Given the description of an element on the screen output the (x, y) to click on. 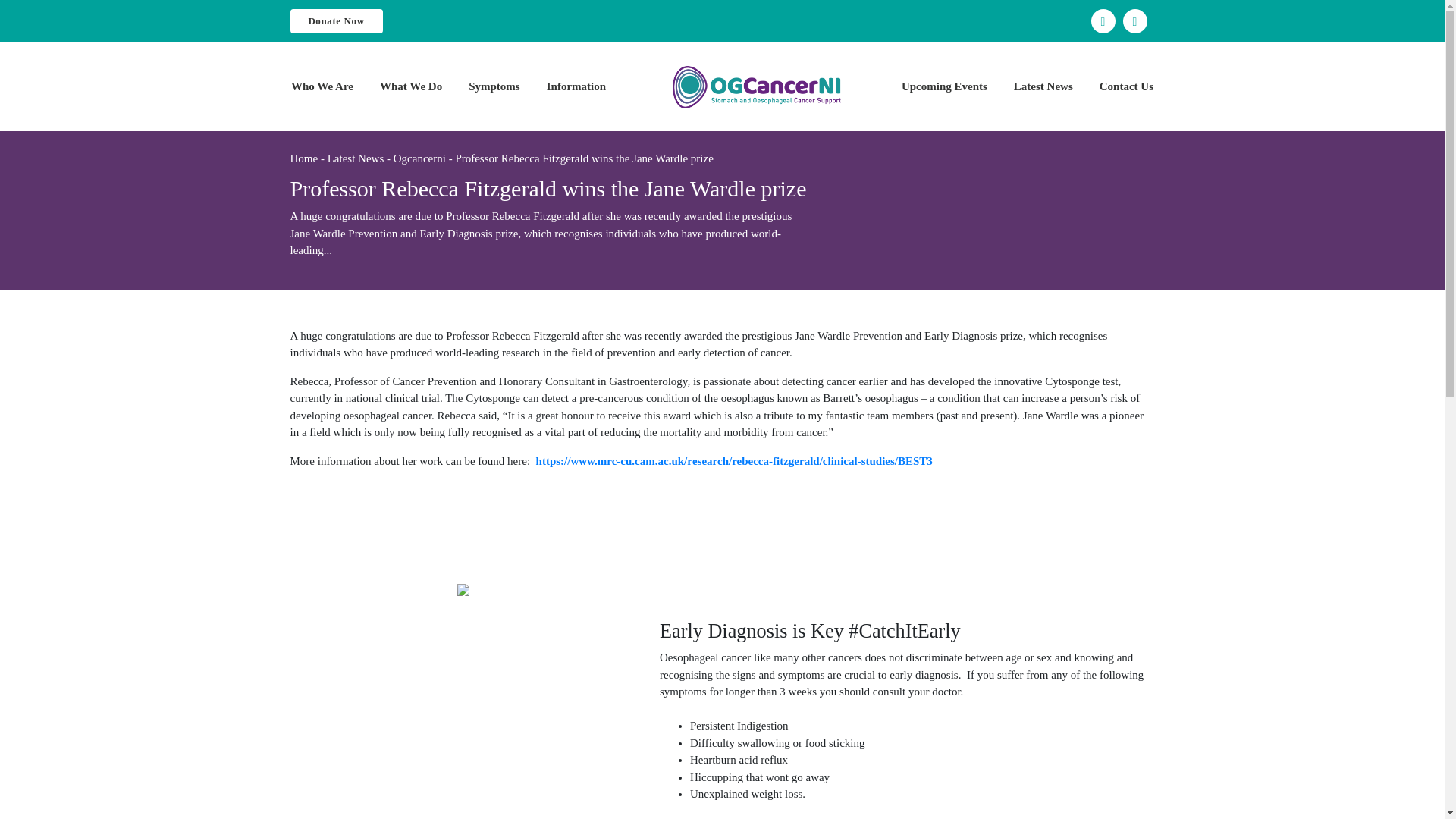
Contact Us (1125, 87)
Latest News (1042, 87)
Information (575, 87)
Symptoms (494, 87)
Upcoming Events (943, 87)
Home (303, 158)
Latest News (1042, 87)
Information (575, 87)
Go to the Ogcancerni category archives. (419, 158)
Contact Us (1125, 87)
